Given the description of an element on the screen output the (x, y) to click on. 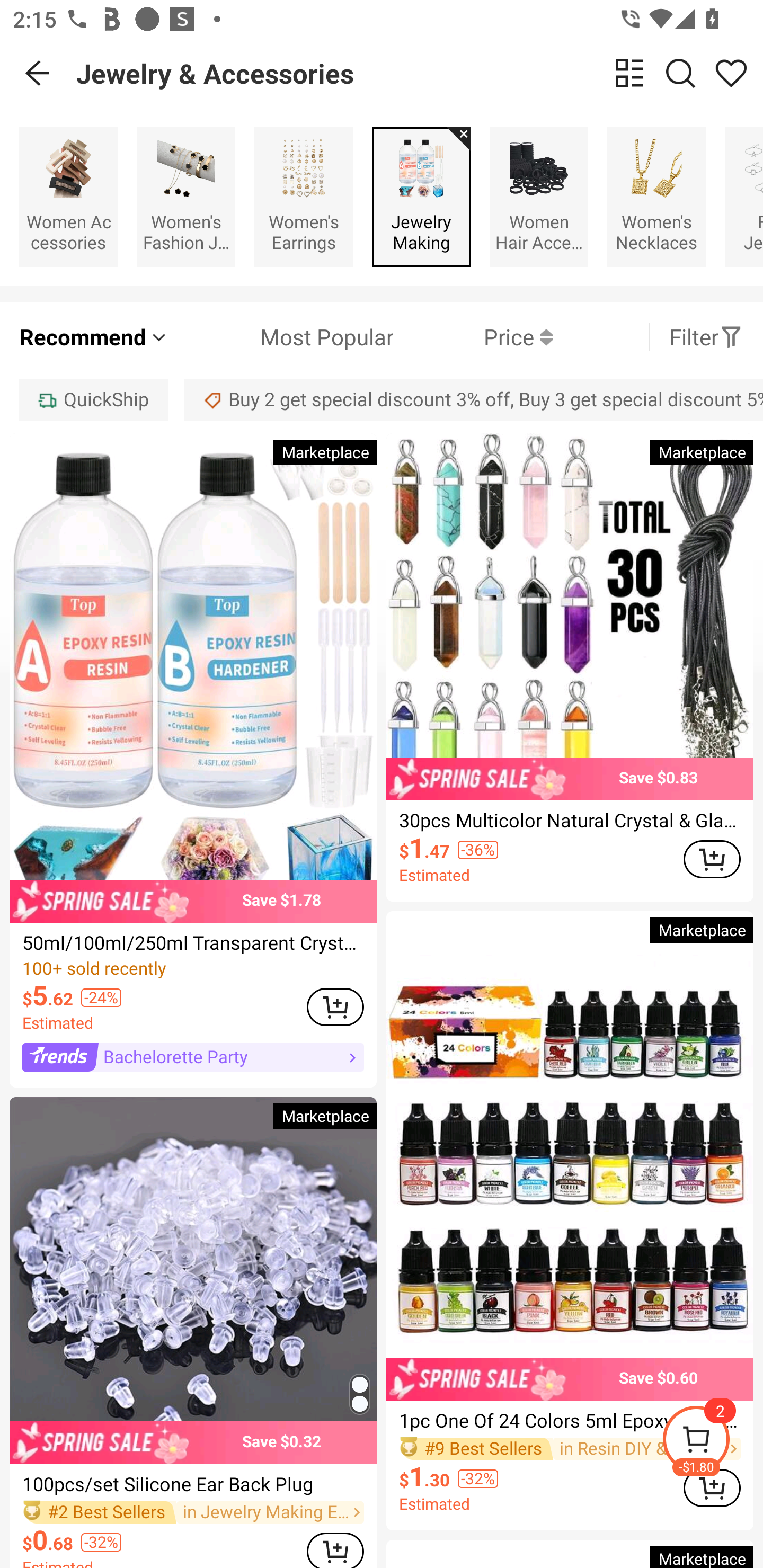
Jewelry & Accessories change view Search Share (419, 72)
change view (629, 72)
Search (679, 72)
Share (730, 72)
Women Accessories (68, 196)
Women's Fashion Jewelry (185, 196)
Women's Earrings (303, 196)
Jewelry Making (421, 196)
Women Hair Accessories (538, 196)
Women's Necklaces (656, 196)
Recommend (94, 336)
Most Popular (280, 336)
Price (472, 336)
Filter (705, 336)
QuickShip (93, 399)
ADD TO CART (711, 859)
ADD TO CART (334, 1006)
Bachelorette Party (192, 1056)
-$1.80 (712, 1441)
#9 Best Sellers in Resin DIY & Silicone Molds (569, 1448)
ADD TO CART (711, 1487)
#2 Best Sellers in Jewelry Making Earring Findings (192, 1512)
ADD TO CART (334, 1549)
